Given the description of an element on the screen output the (x, y) to click on. 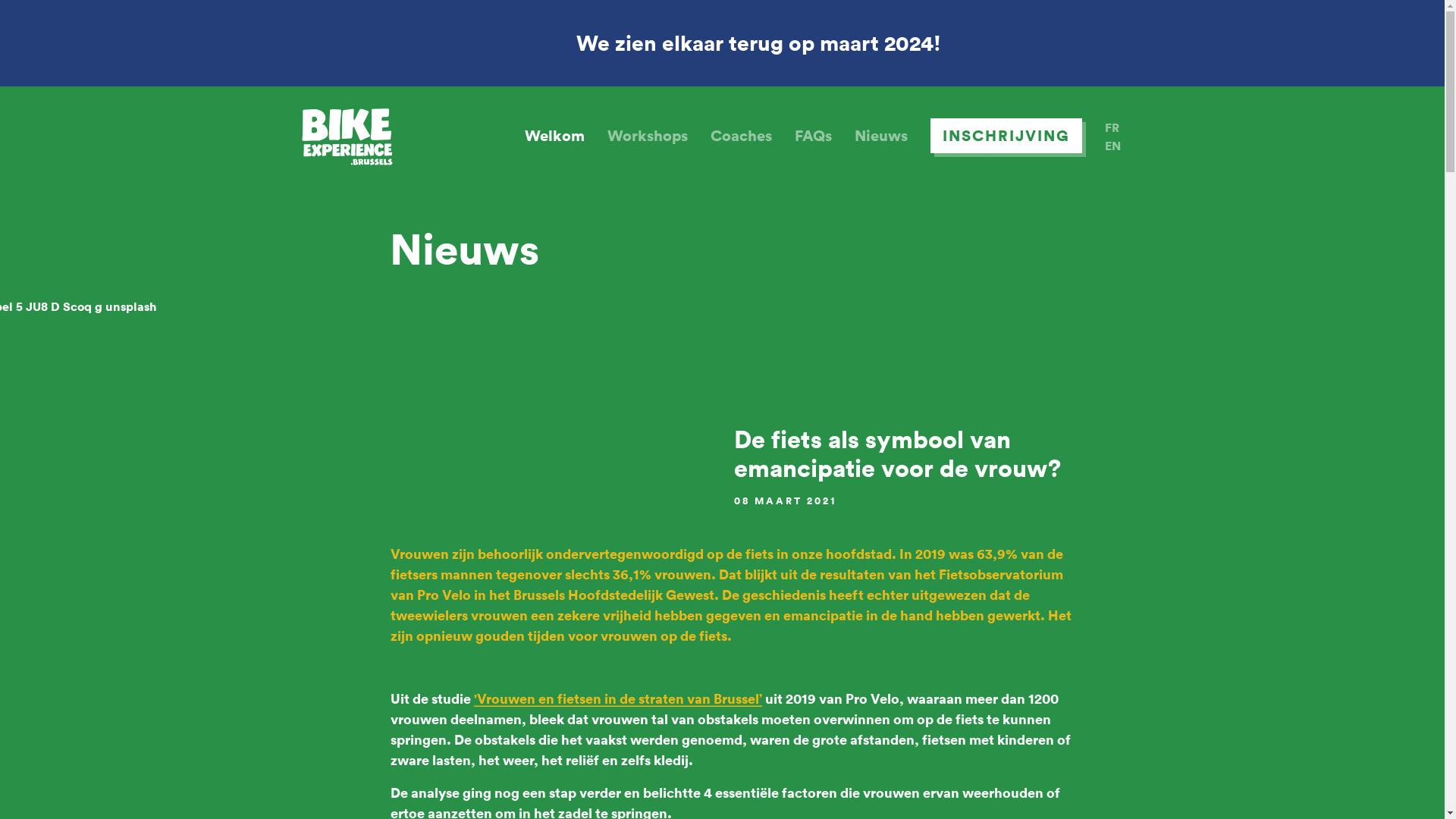
We zien elkaar terug op maart 2024! Element type: text (721, 43)
Welkom
(current) Element type: text (554, 135)
Nieuws Element type: text (879, 135)
Workshops Element type: text (646, 135)
FAQs Element type: text (812, 135)
FR Element type: text (1112, 127)
INSCHRIJVING Element type: text (1005, 135)
Coaches Element type: text (740, 135)
EN Element type: text (1112, 145)
